Given the description of an element on the screen output the (x, y) to click on. 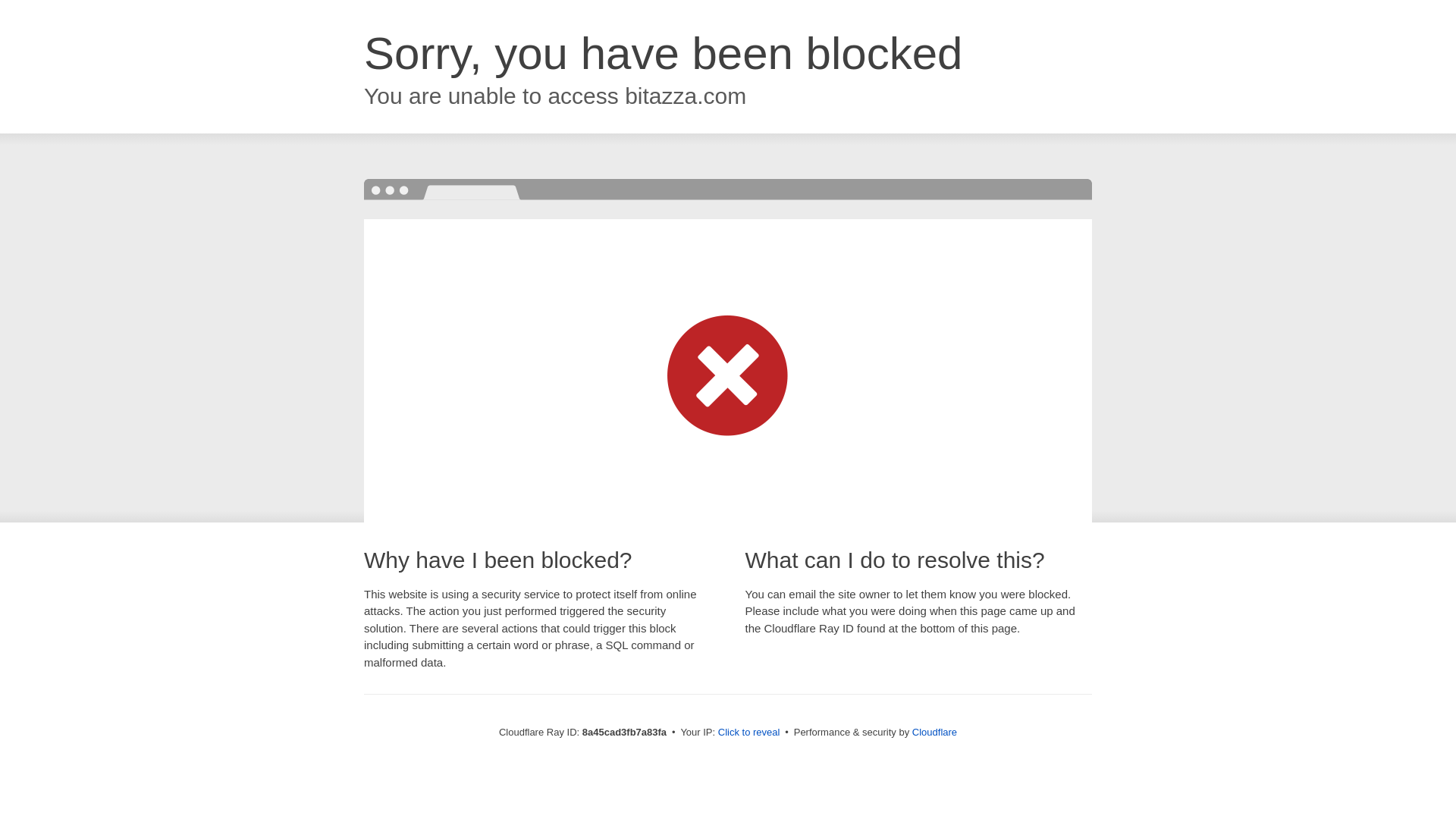
Cloudflare (934, 731)
Click to reveal (748, 732)
